Given the description of an element on the screen output the (x, y) to click on. 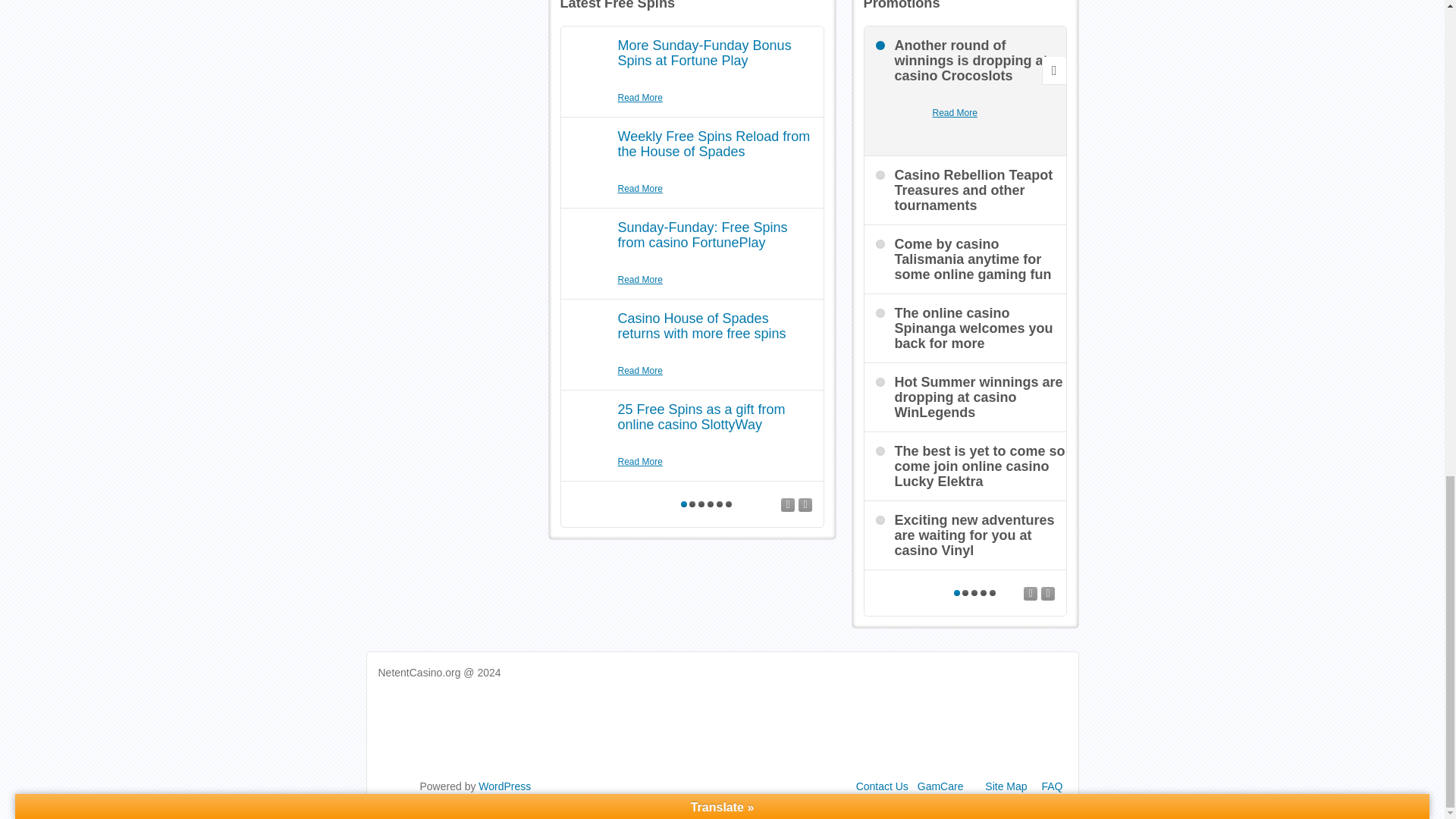
FAQ (1051, 786)
Site Map (1005, 786)
Contact Us (882, 786)
Read More (639, 97)
Casino House of Spades returns with more free spins (701, 326)
Read More (639, 188)
Read More (954, 113)
25 Free Spins as a gift from online casino SlottyWay (700, 417)
Read More (639, 279)
Gambling Help (940, 786)
More Sunday-Funday Bonus Spins at Fortune Play (703, 52)
Sunday-Funday: Free Spins from casino FortunePlay (702, 235)
Read More (639, 462)
Read More (639, 370)
Weekly Free Spins Reload from the House of Spades (713, 143)
